Given the description of an element on the screen output the (x, y) to click on. 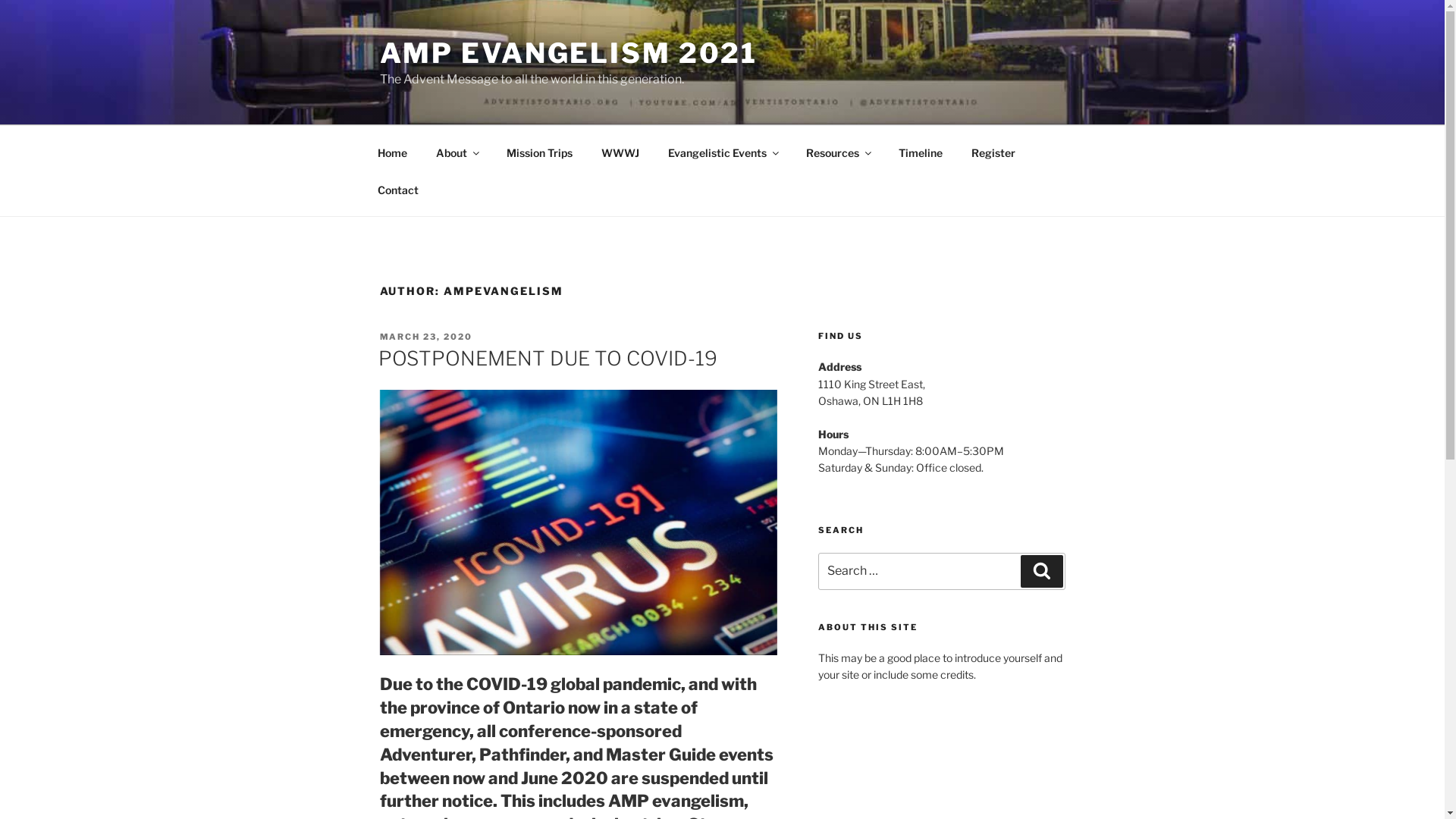
Home Element type: text (392, 151)
Search Element type: text (1041, 570)
WWWJ Element type: text (620, 151)
Register Element type: text (993, 151)
MARCH 23, 2020 Element type: text (425, 336)
About Element type: text (457, 151)
Evangelistic Events Element type: text (722, 151)
Timeline Element type: text (920, 151)
AMP EVANGELISM 2021 Element type: text (568, 52)
Mission Trips Element type: text (538, 151)
Contact Element type: text (397, 189)
Resources Element type: text (838, 151)
POSTPONEMENT DUE TO COVID-19 Element type: text (546, 358)
